Given the description of an element on the screen output the (x, y) to click on. 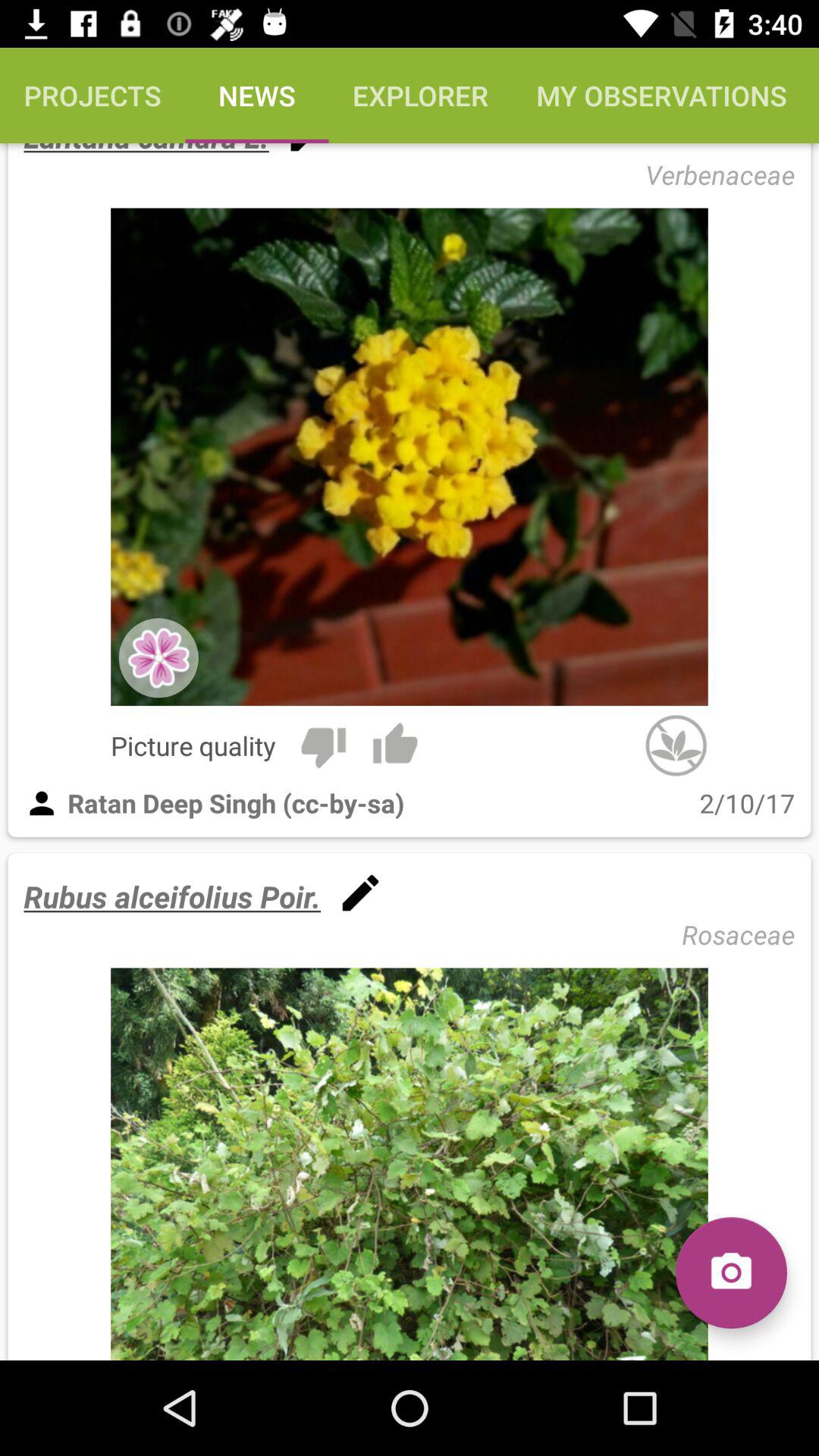
select the item to the right of picture quality (323, 745)
